Given the description of an element on the screen output the (x, y) to click on. 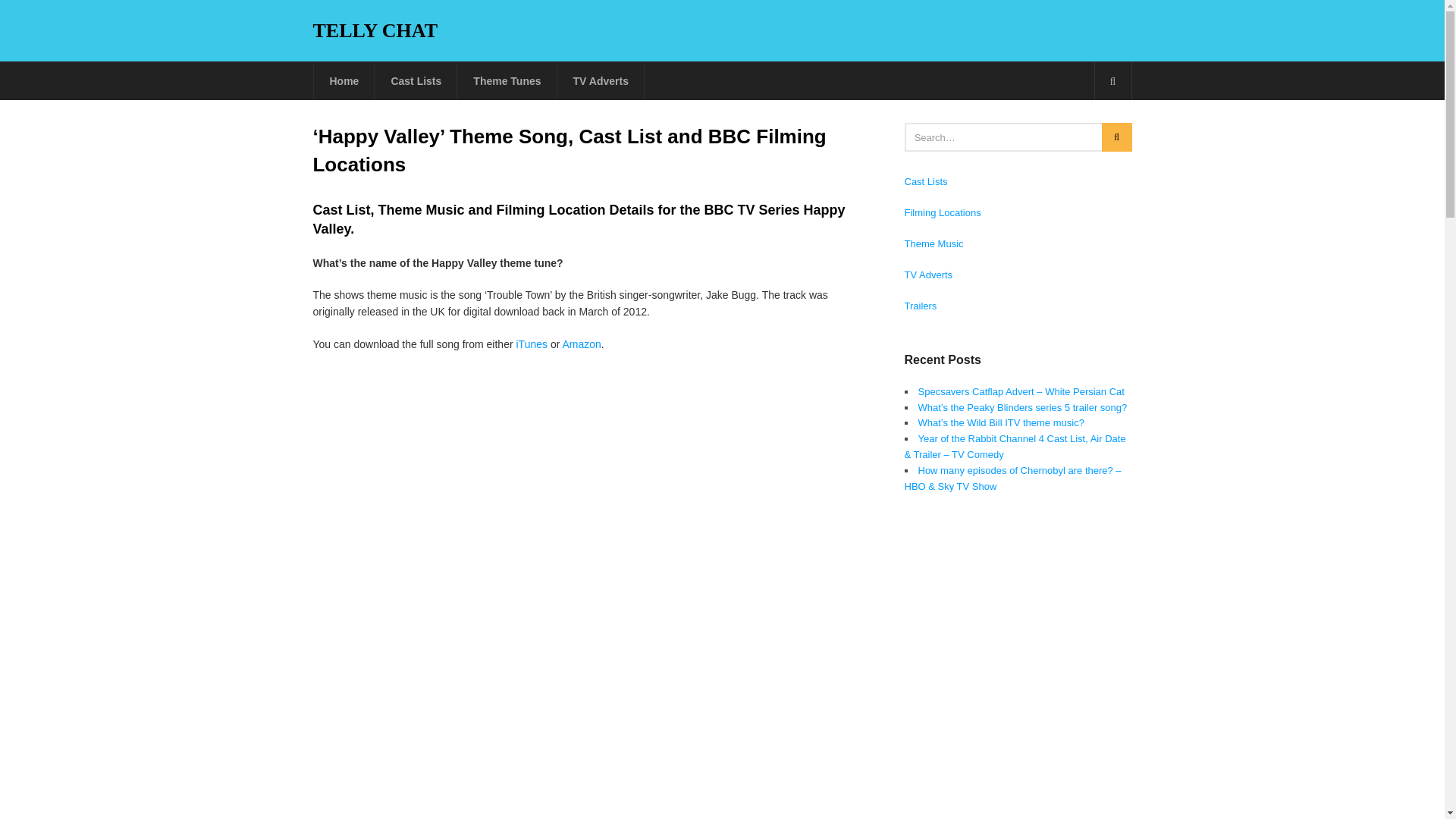
TELLY CHAT (374, 30)
Home (344, 80)
iTunes (531, 344)
Trailers (920, 306)
TV Adverts (928, 274)
Search (1112, 80)
Cast Lists (925, 181)
TV Adverts (601, 80)
Telly Chat (374, 30)
Filming Locations (941, 212)
